Given the description of an element on the screen output the (x, y) to click on. 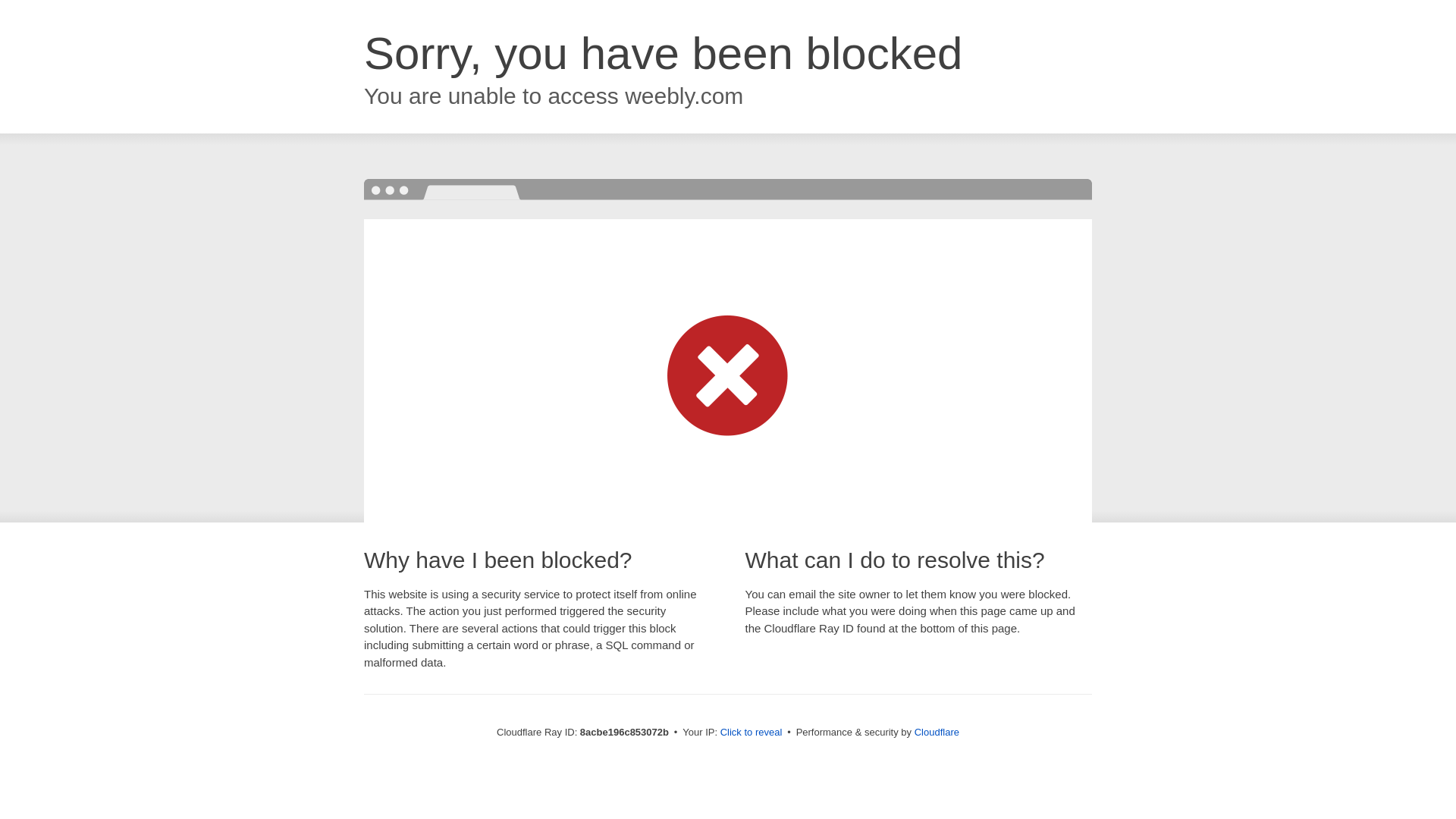
Cloudflare (936, 731)
Click to reveal (751, 732)
